Given the description of an element on the screen output the (x, y) to click on. 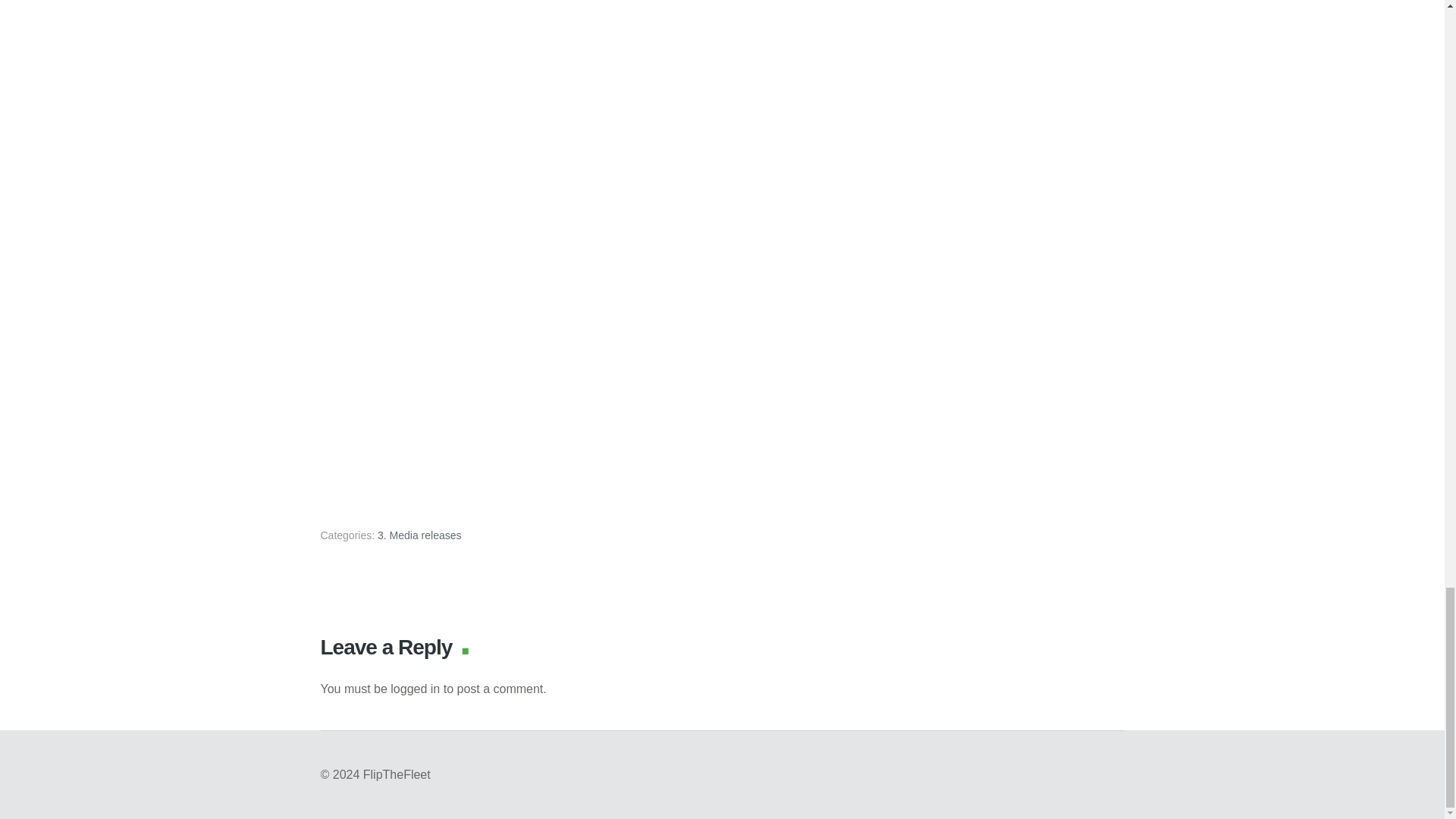
3. Media releases (419, 534)
